Given the description of an element on the screen output the (x, y) to click on. 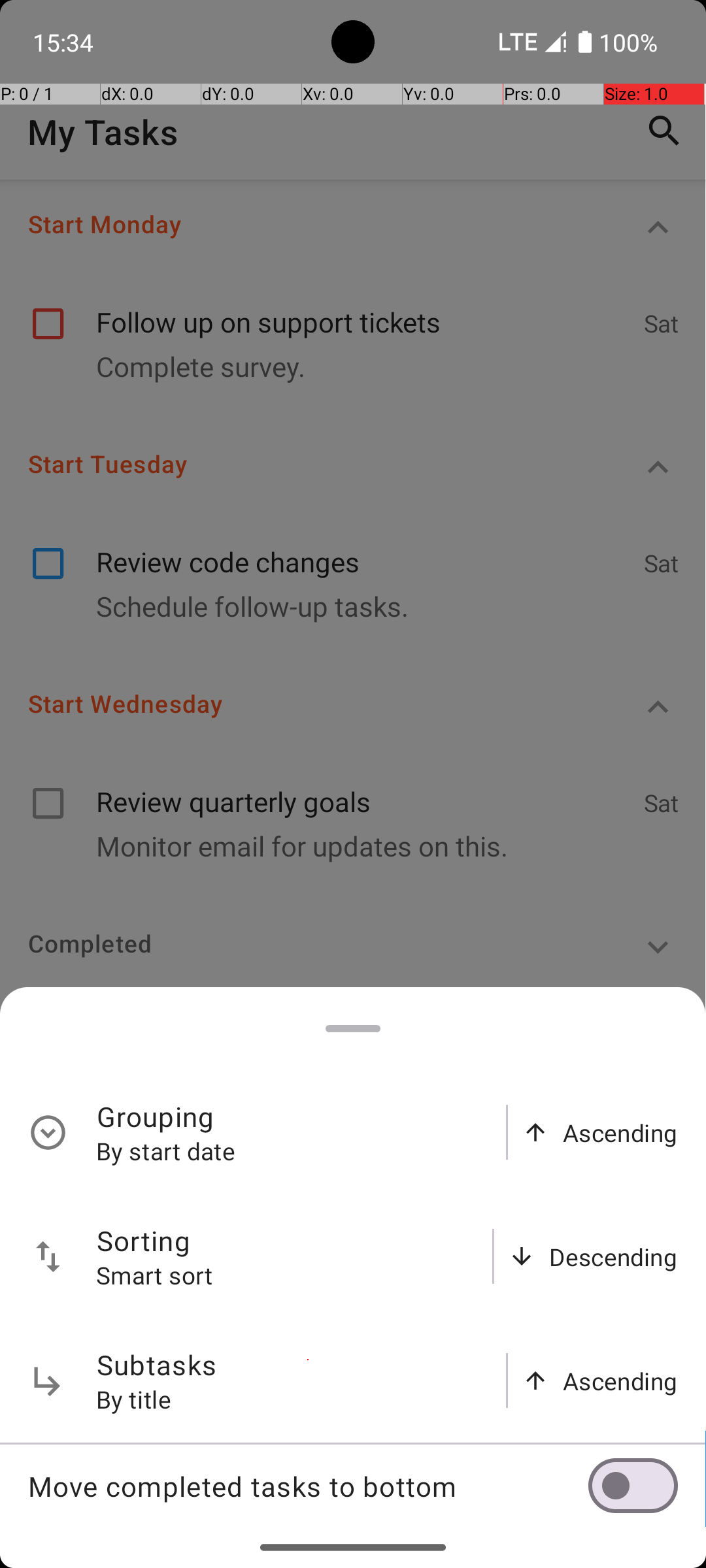
By title Element type: android.widget.TextView (133, 1399)
Ascending Element type: android.widget.TextView (619, 1132)
